Given the description of an element on the screen output the (x, y) to click on. 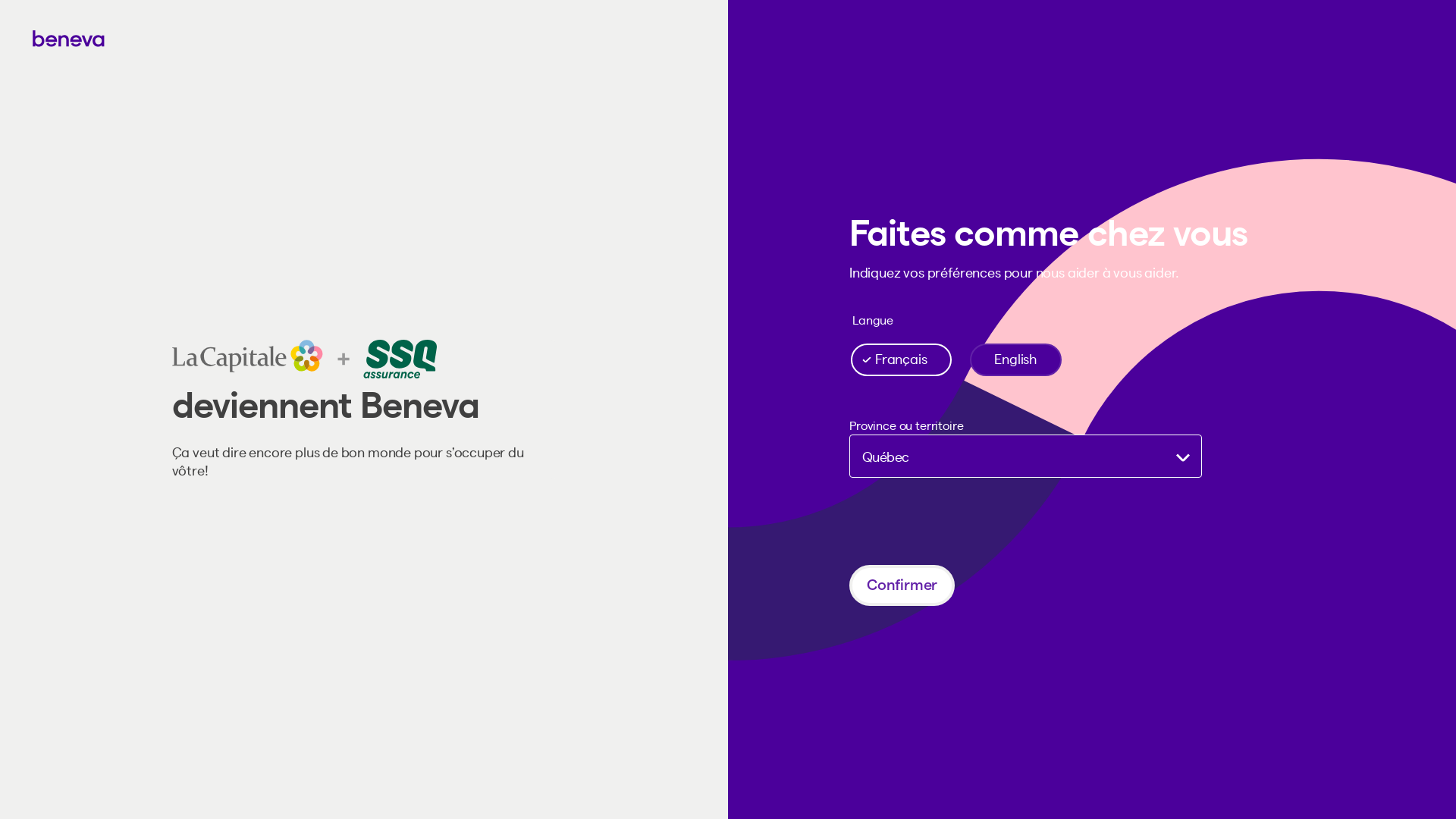
Section conseillers Element type: text (354, 37)
Ouvrir le menu Element type: text (46, 38)
beneva Element type: text (727, 39)
Participer Element type: text (268, 619)
Confirmer Element type: text (901, 584)
Services et outils Element type: text (220, 37)
Magasiner Element type: text (110, 37)
Me connecter Element type: text (1367, 41)
